Given the description of an element on the screen output the (x, y) to click on. 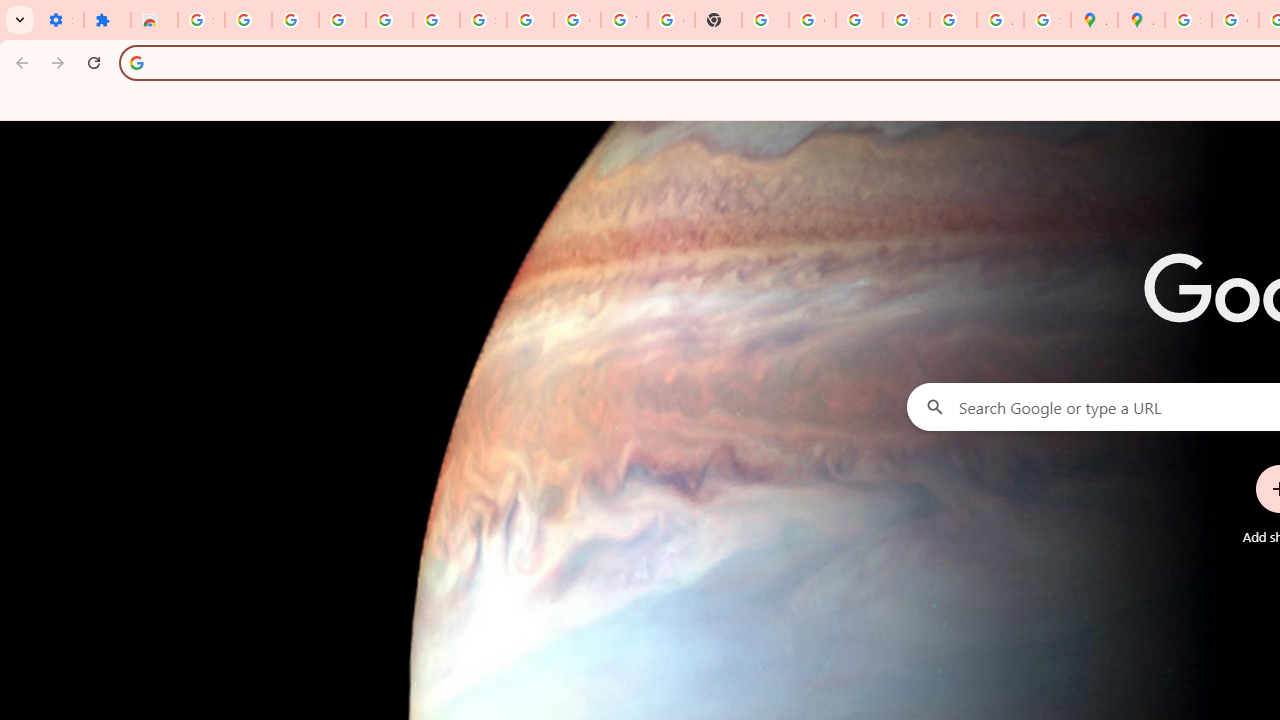
Google Account (577, 20)
Sign in - Google Accounts (1188, 20)
Extensions (107, 20)
YouTube (623, 20)
Sign in - Google Accounts (201, 20)
Delete photos & videos - Computer - Google Photos Help (342, 20)
